Given the description of an element on the screen output the (x, y) to click on. 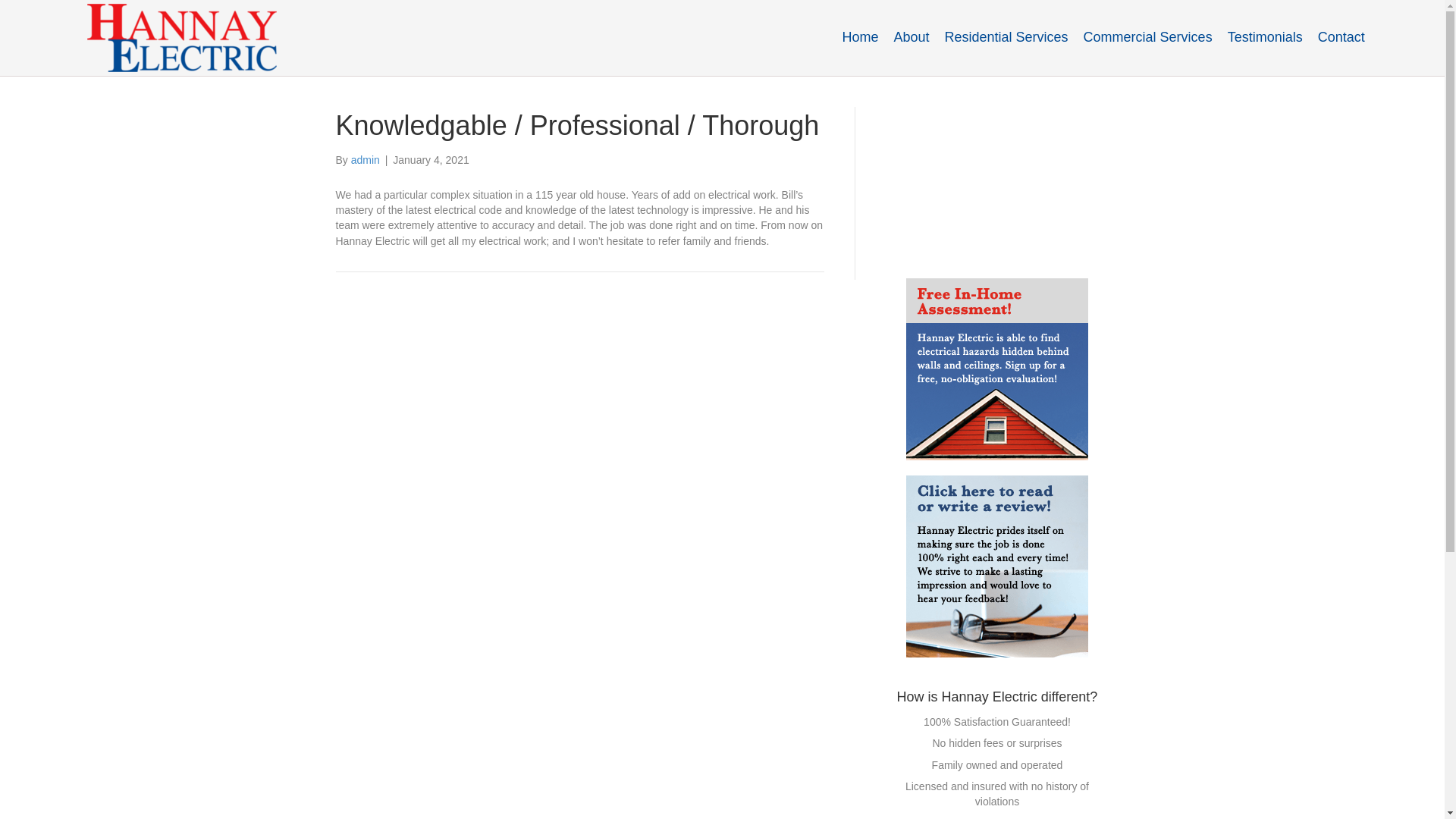
admin (365, 159)
Home (859, 37)
Residential Services (1006, 37)
Contact (1341, 37)
About (910, 37)
Commercial Services (1147, 37)
Testimonials (1265, 37)
